Given the description of an element on the screen output the (x, y) to click on. 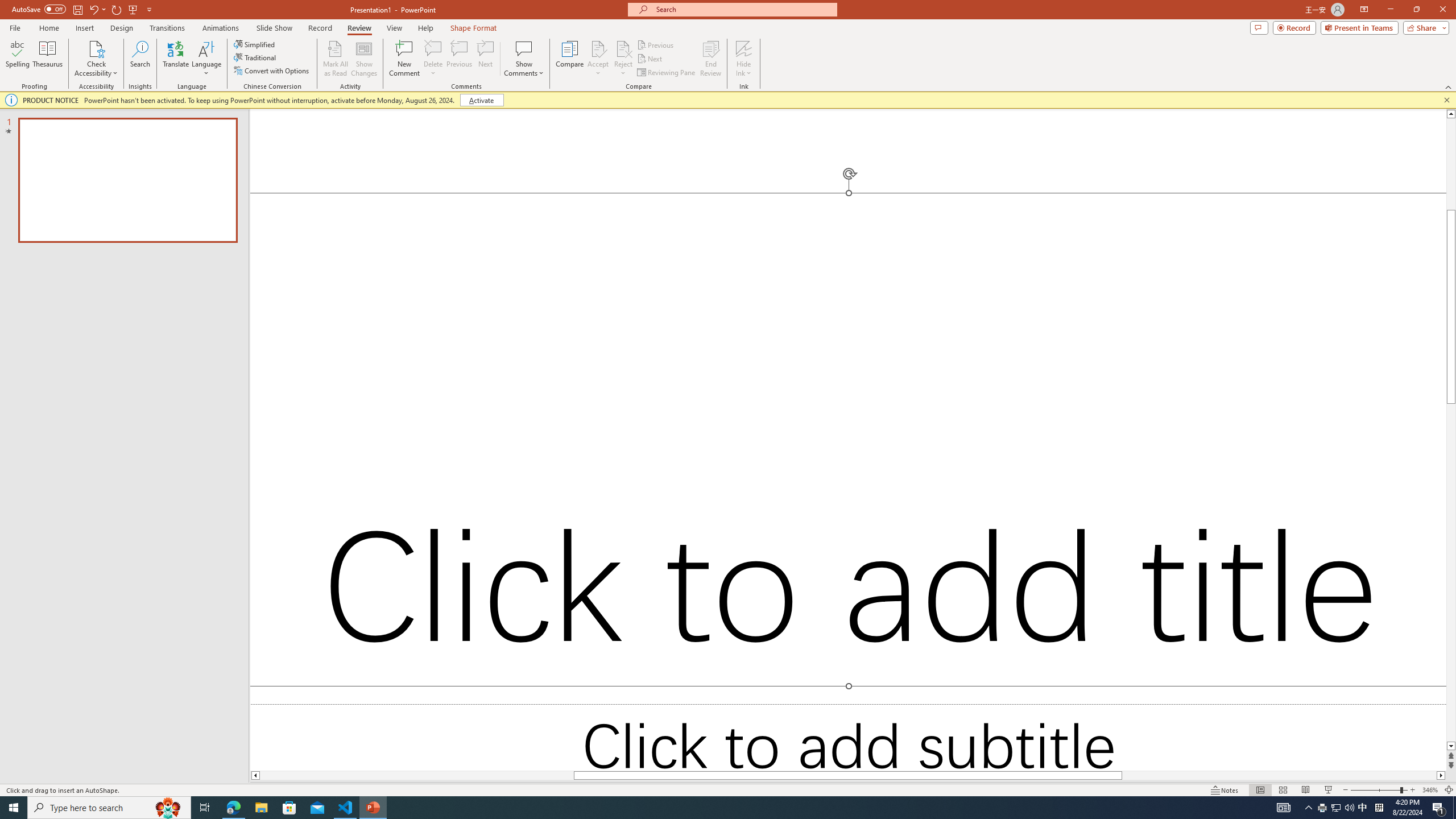
Reject Change (622, 48)
Next (649, 58)
Zoom 346% (1430, 790)
